Given the description of an element on the screen output the (x, y) to click on. 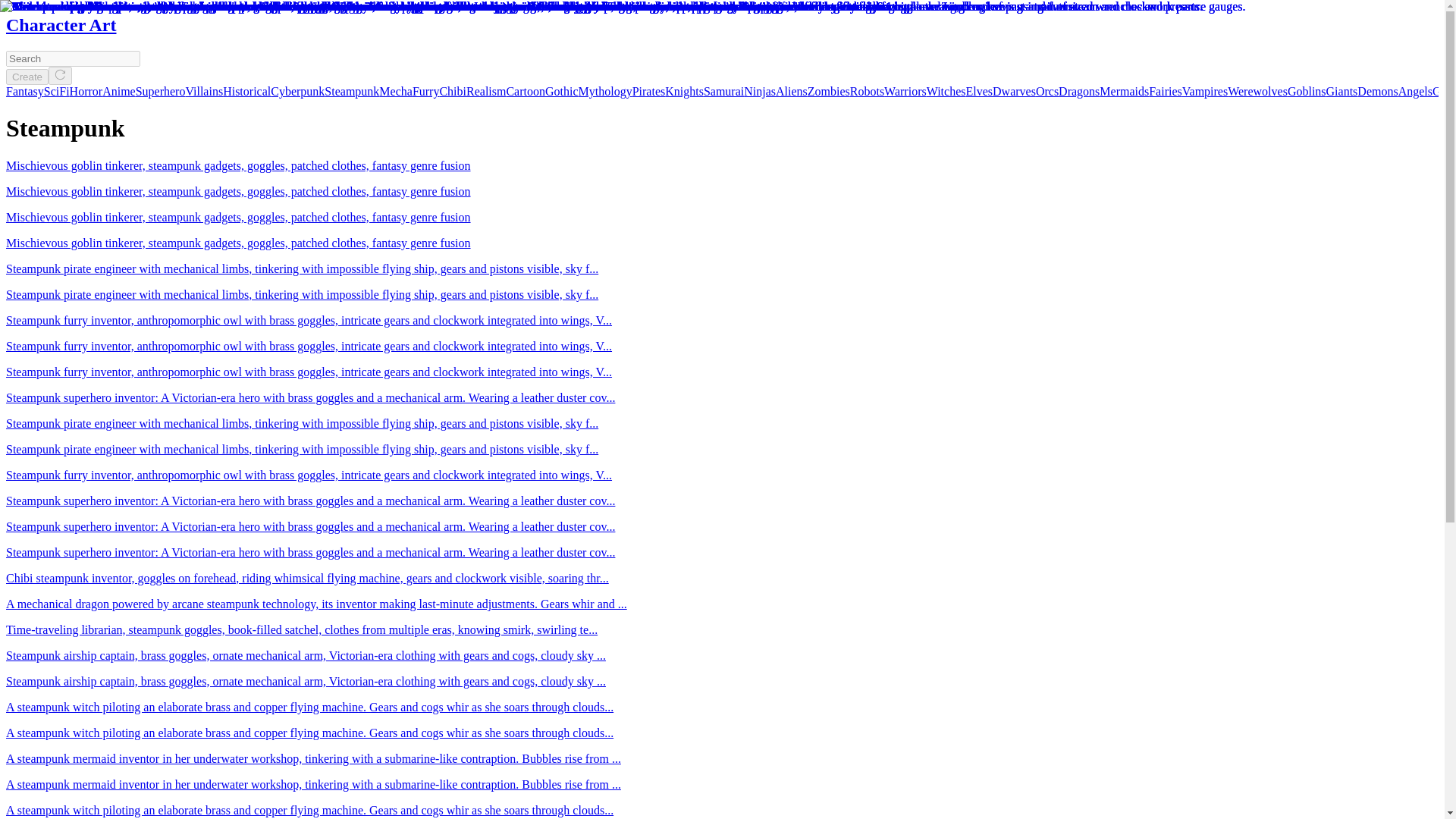
Dwarves (1013, 91)
Mythology (604, 91)
Samurai (723, 91)
Cartoon (524, 91)
Aliens (792, 91)
Villains (203, 91)
Mermaids (1123, 91)
Pirates (648, 91)
Knights (684, 91)
Fairies (1165, 91)
